Given the description of an element on the screen output the (x, y) to click on. 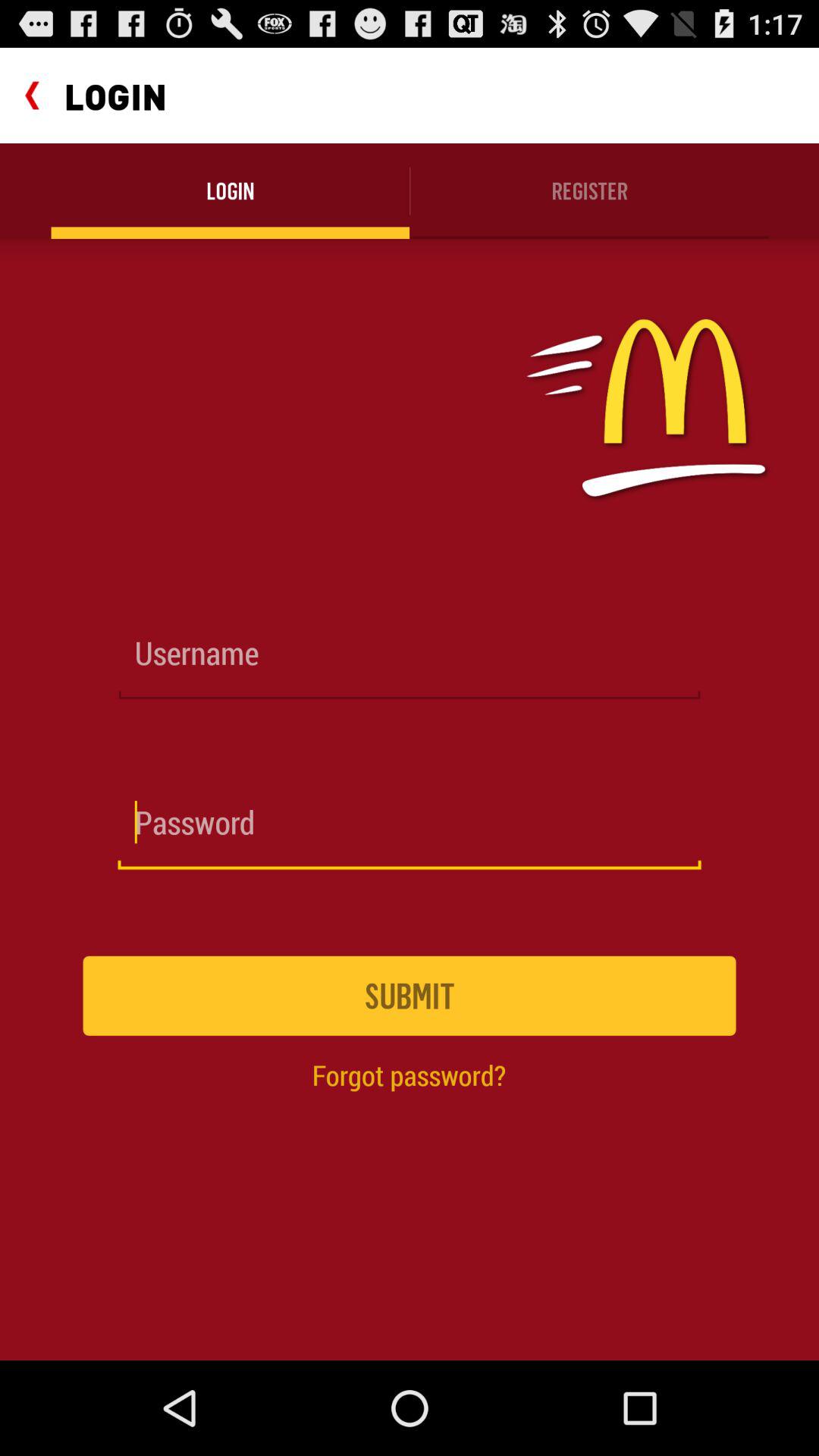
scroll to the forgot password? item (409, 1074)
